Given the description of an element on the screen output the (x, y) to click on. 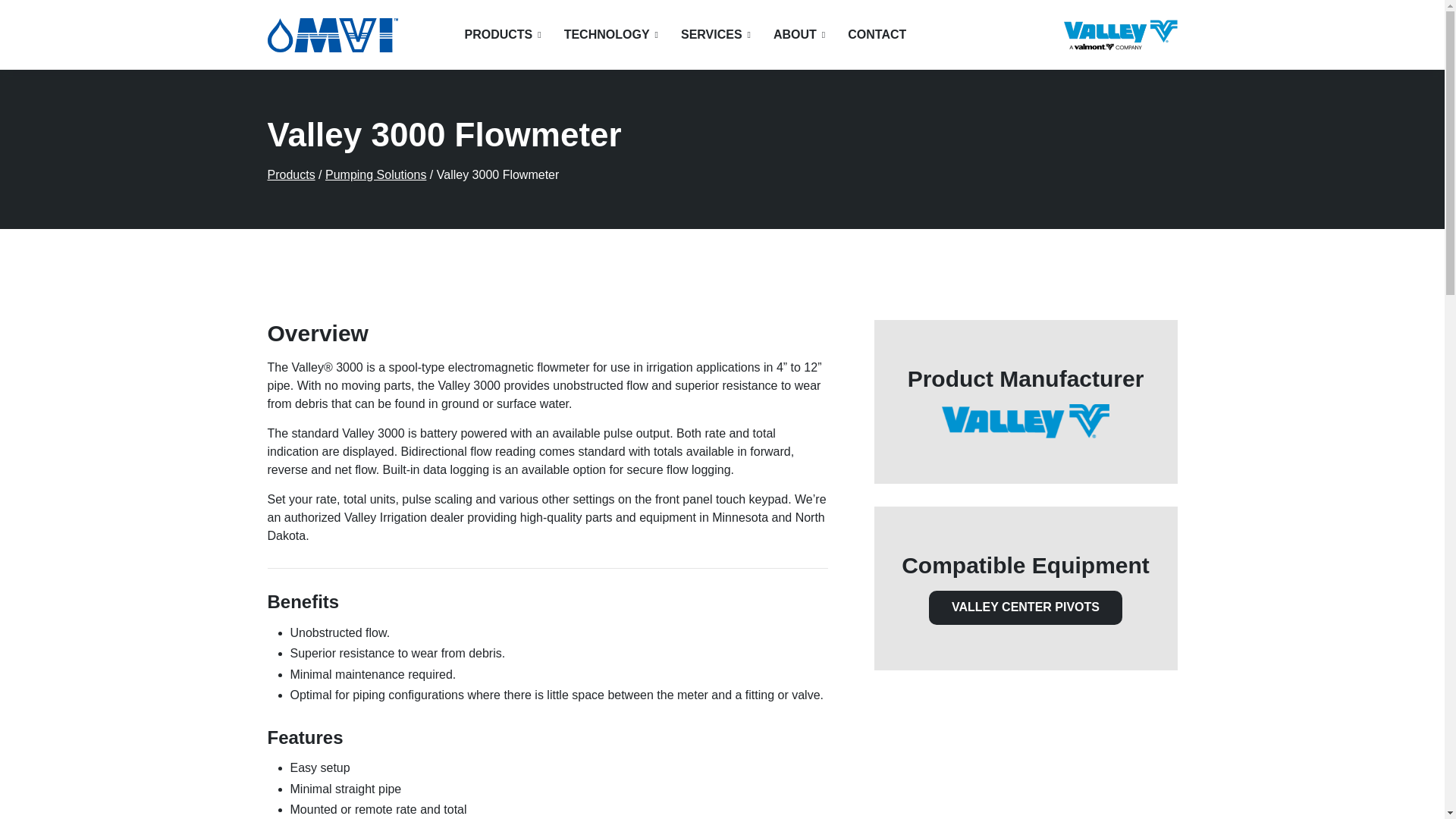
SERVICES (716, 34)
TECHNOLOGY (611, 34)
PRODUCTS (502, 34)
